Given the description of an element on the screen output the (x, y) to click on. 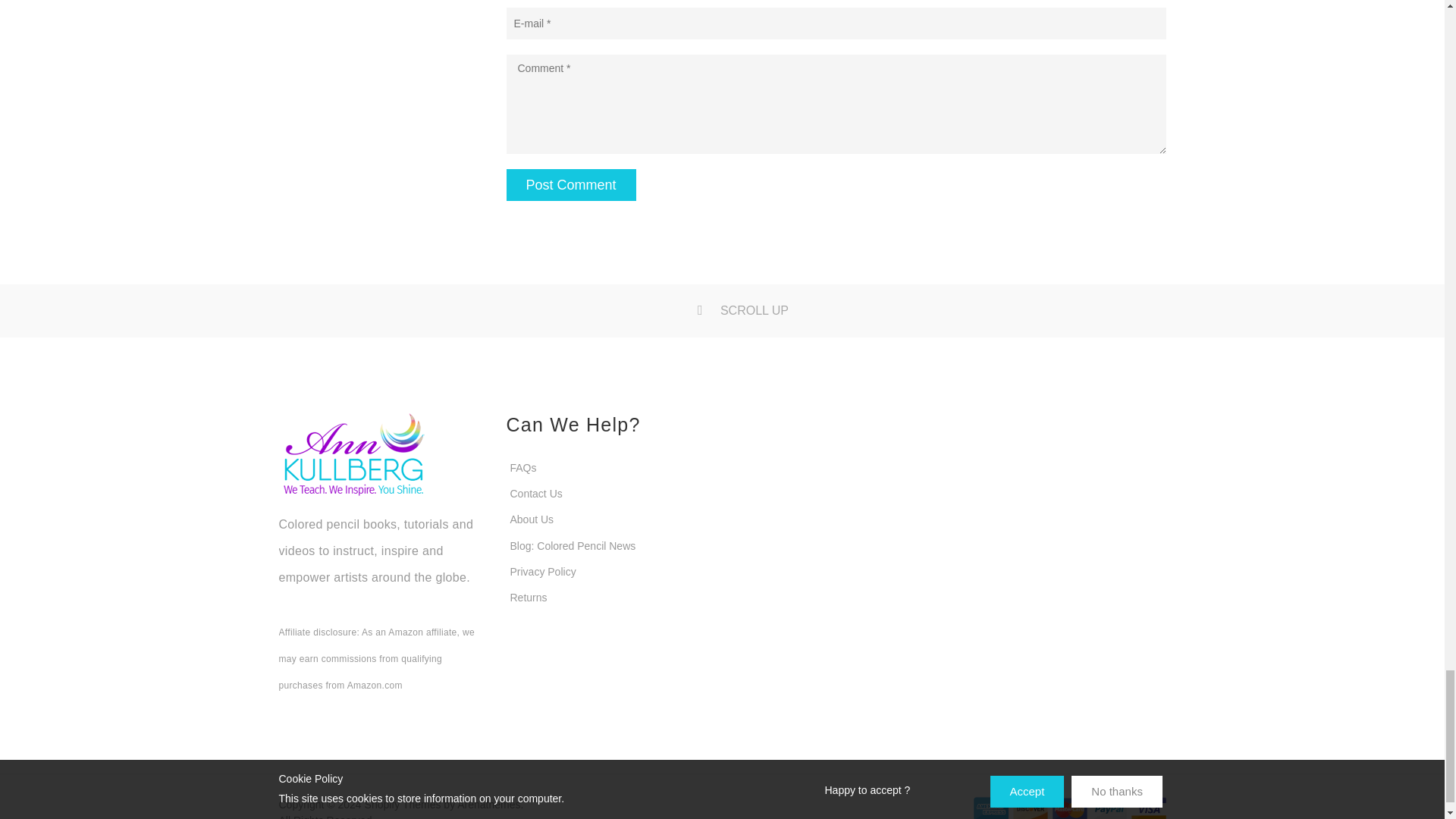
SCROLL UP (722, 310)
